Given the description of an element on the screen output the (x, y) to click on. 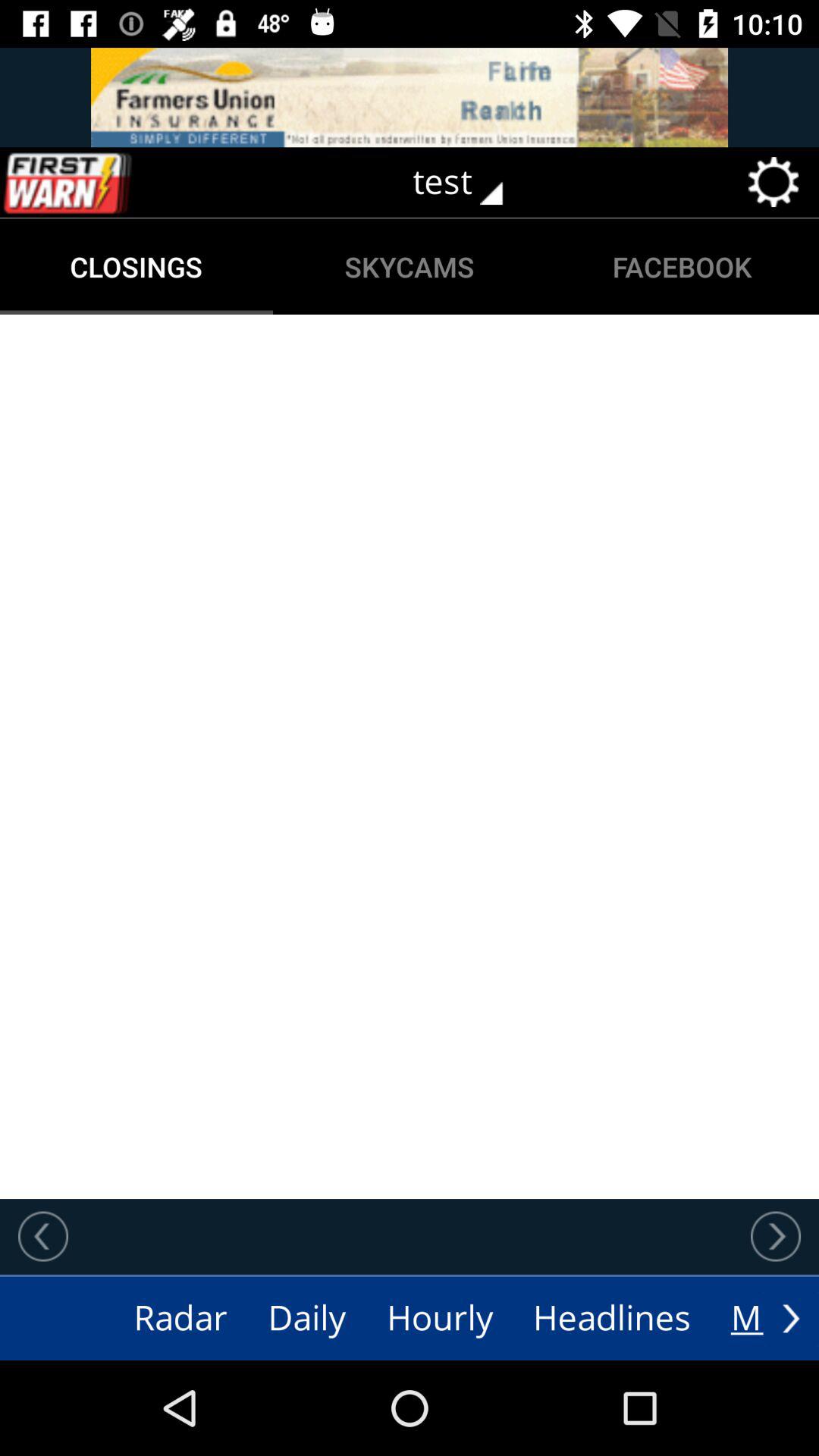
go back (43, 1236)
